Given the description of an element on the screen output the (x, y) to click on. 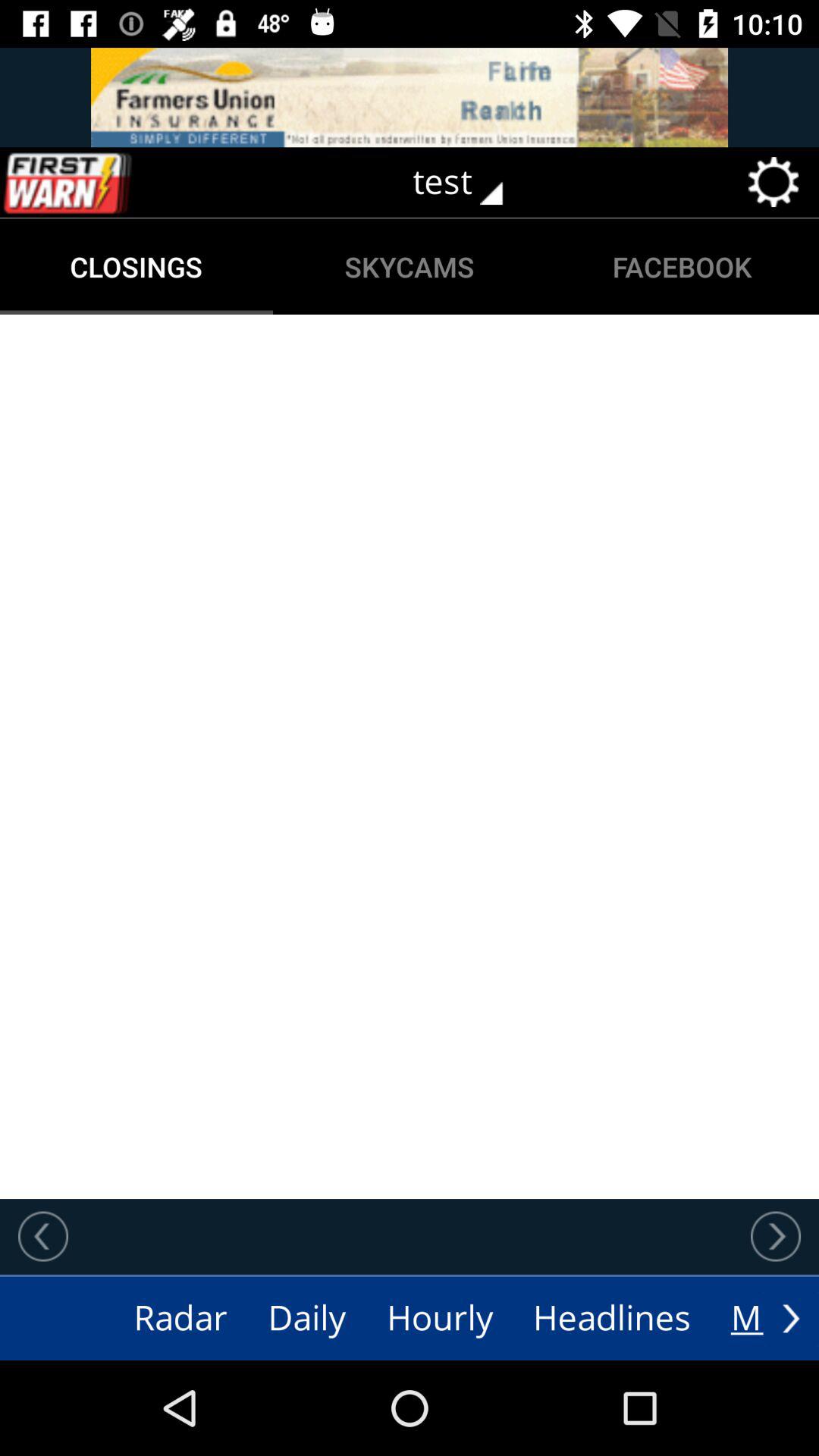
go back (43, 1236)
